Given the description of an element on the screen output the (x, y) to click on. 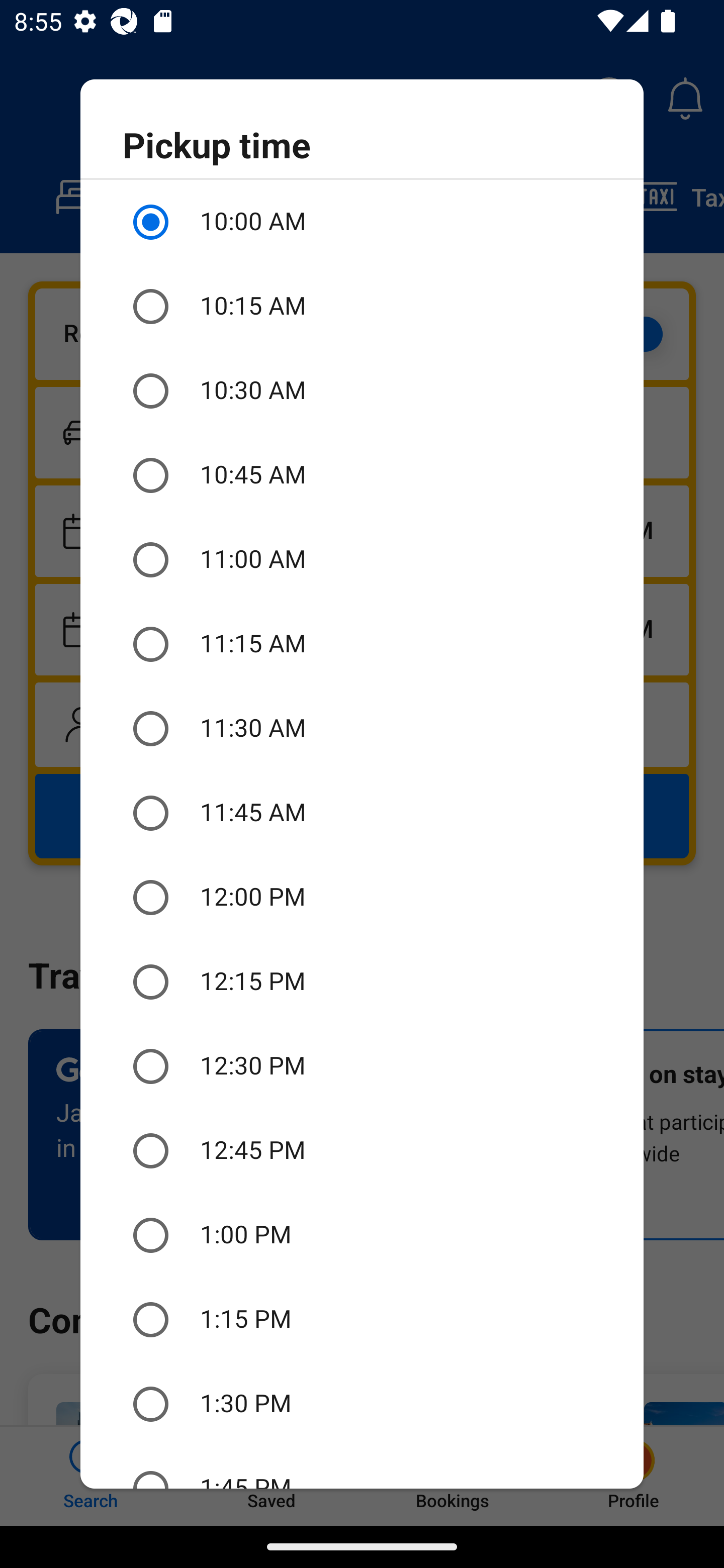
10:00 AM (361, 222)
10:15 AM (361, 306)
10:30 AM (361, 390)
10:45 AM (361, 474)
11:00 AM (361, 559)
11:15 AM (361, 644)
11:30 AM (361, 728)
11:45 AM (361, 813)
12:00 PM (361, 897)
12:15 PM (361, 981)
12:30 PM (361, 1065)
12:45 PM (361, 1150)
1:00 PM (361, 1235)
1:15 PM (361, 1319)
1:30 PM (361, 1403)
